Given the description of an element on the screen output the (x, y) to click on. 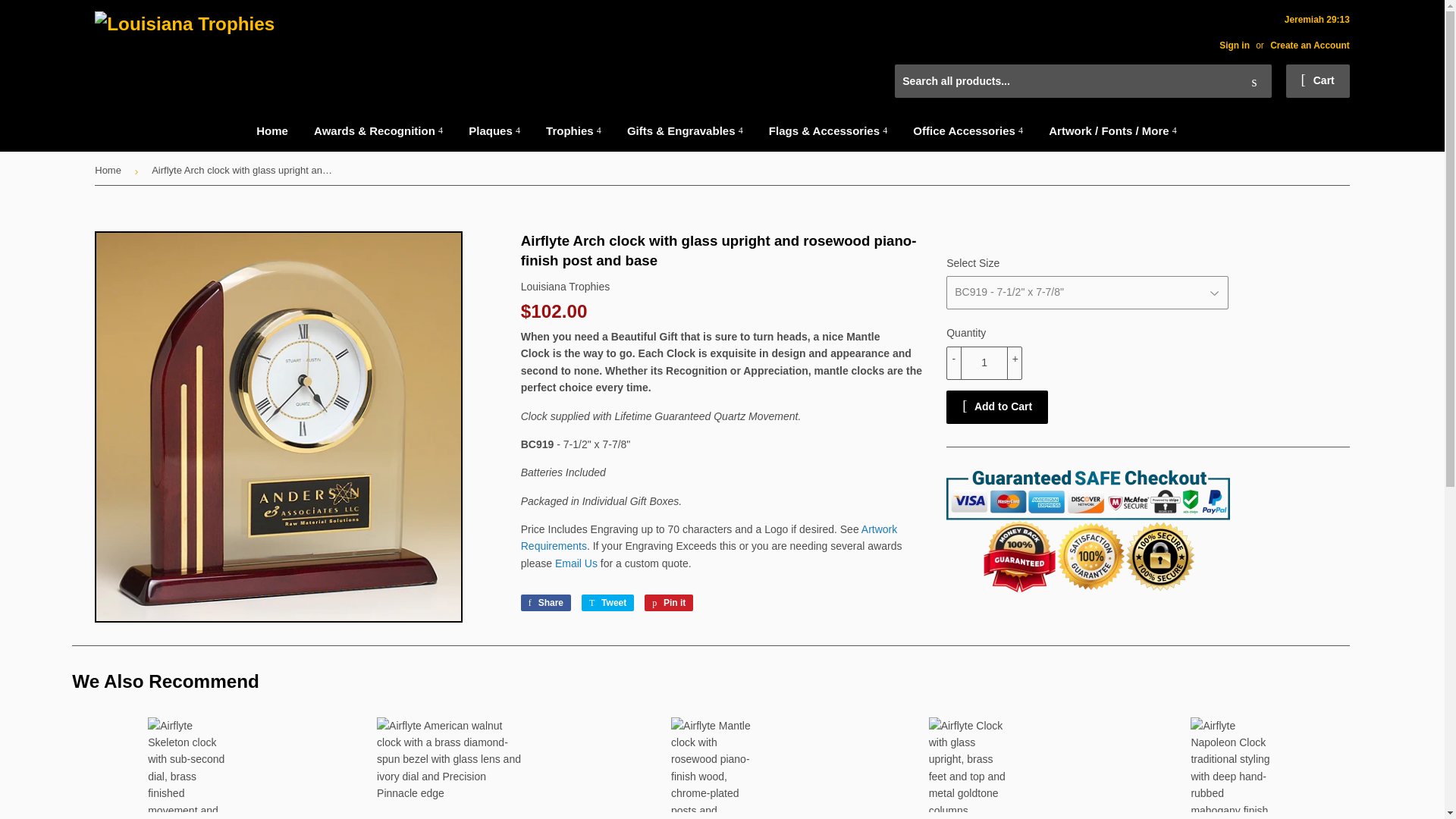
Jeremiah 29:13 (1278, 31)
Create an Account (1309, 45)
Share on Facebook (545, 602)
Pin on Pinterest (669, 602)
Sign in (1234, 45)
1 (984, 363)
Tweet on Twitter (606, 602)
Cart (1317, 80)
Artwork Requirements (709, 537)
Search (1254, 81)
Email Us! (575, 563)
